Given the description of an element on the screen output the (x, y) to click on. 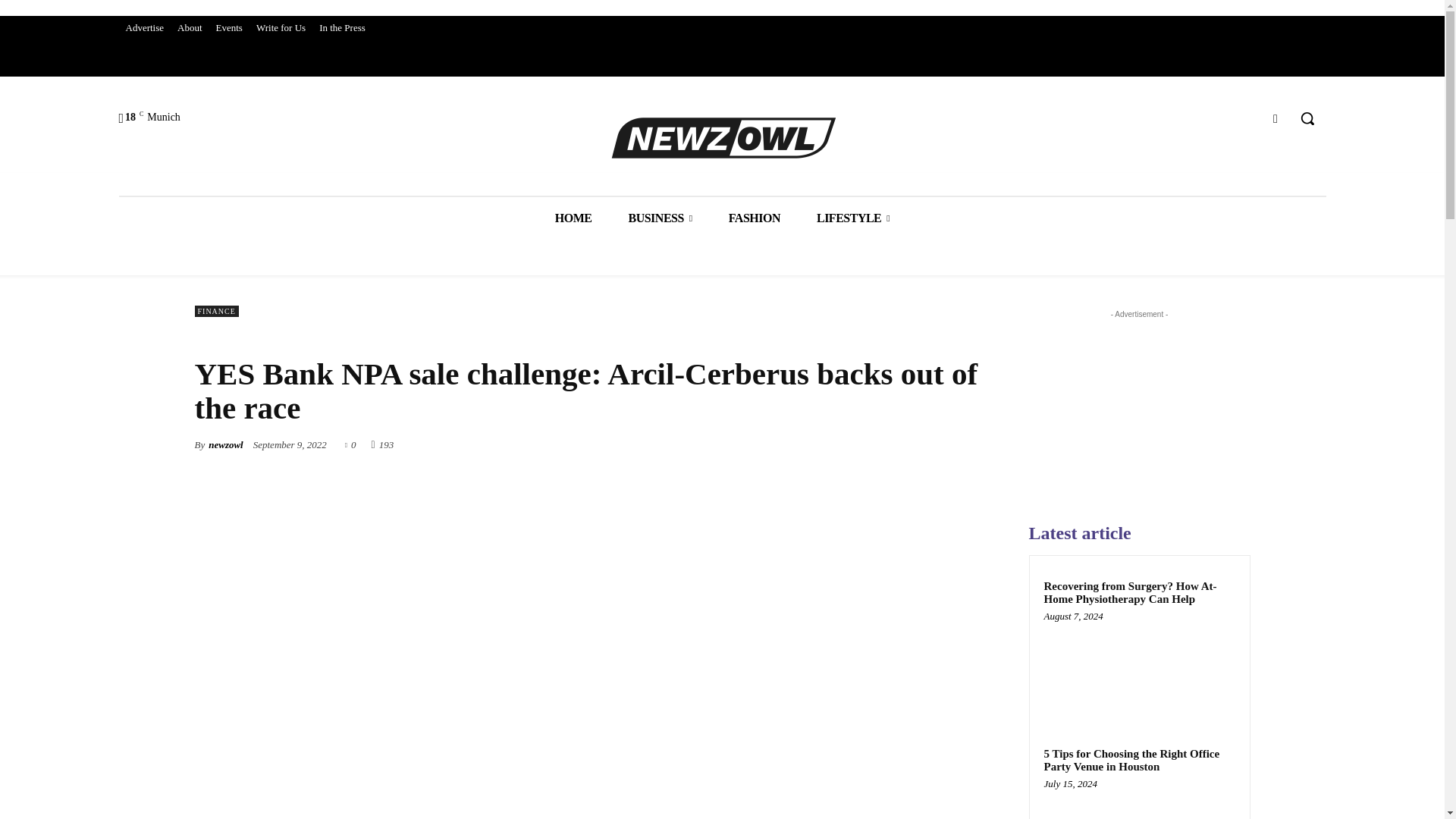
LIFESTYLE (852, 218)
Events (228, 27)
0 (350, 443)
Facebook (1275, 118)
Advertise (143, 27)
HOME (573, 218)
newzowl (225, 444)
About (189, 27)
BUSINESS (660, 218)
FINANCE (215, 310)
